Given the description of an element on the screen output the (x, y) to click on. 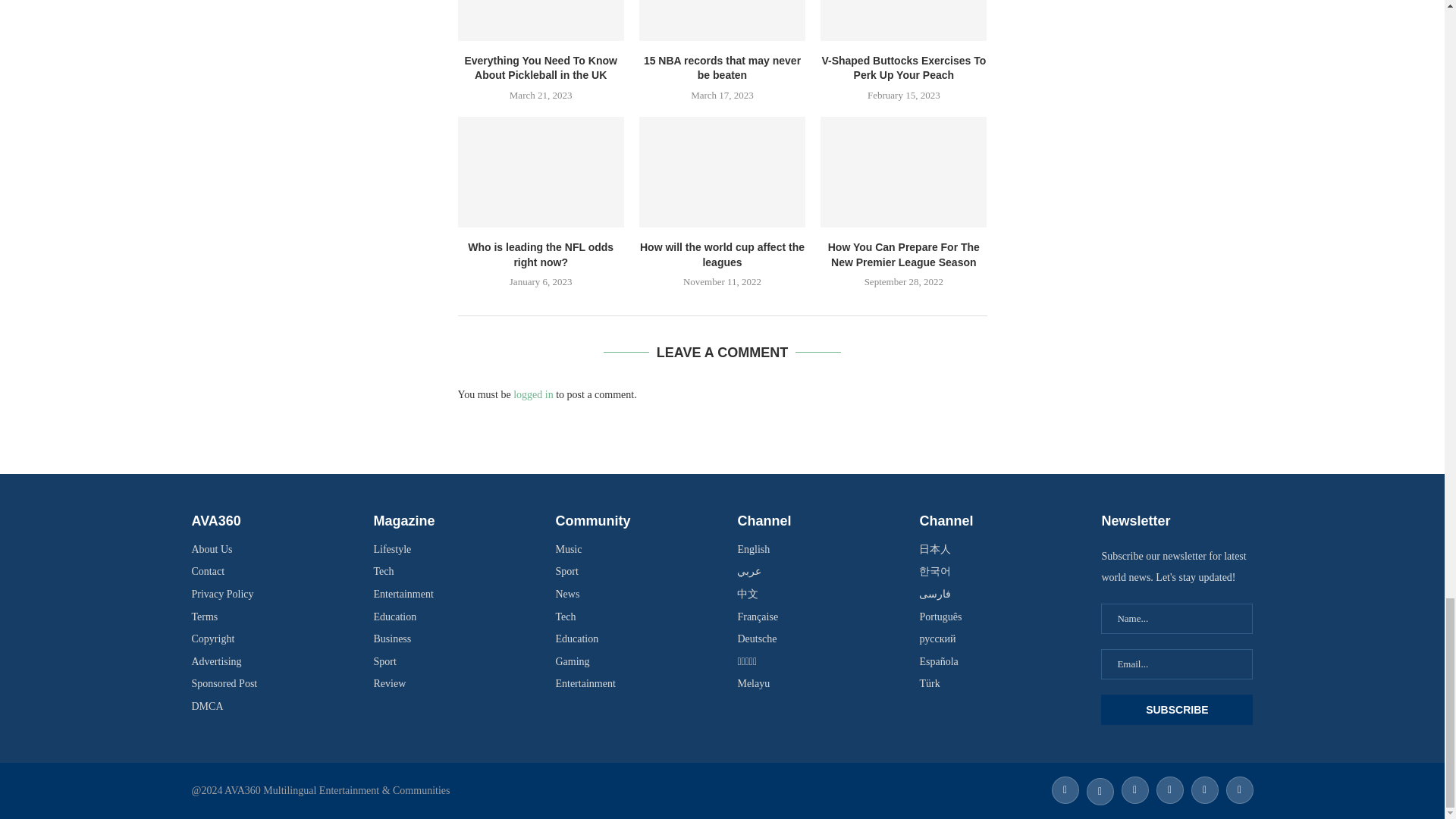
How You Can Prepare For The New Premier League Season (904, 172)
How will the world cup affect the leagues (722, 172)
Who is leading the NFL odds right now? (541, 172)
Subscribe (1176, 709)
15 NBA records that may never be beaten (722, 20)
V-Shaped Buttocks Exercises To Perk Up Your Peach (904, 20)
Everything You Need To Know About Pickleball in the UK (541, 20)
